Given the description of an element on the screen output the (x, y) to click on. 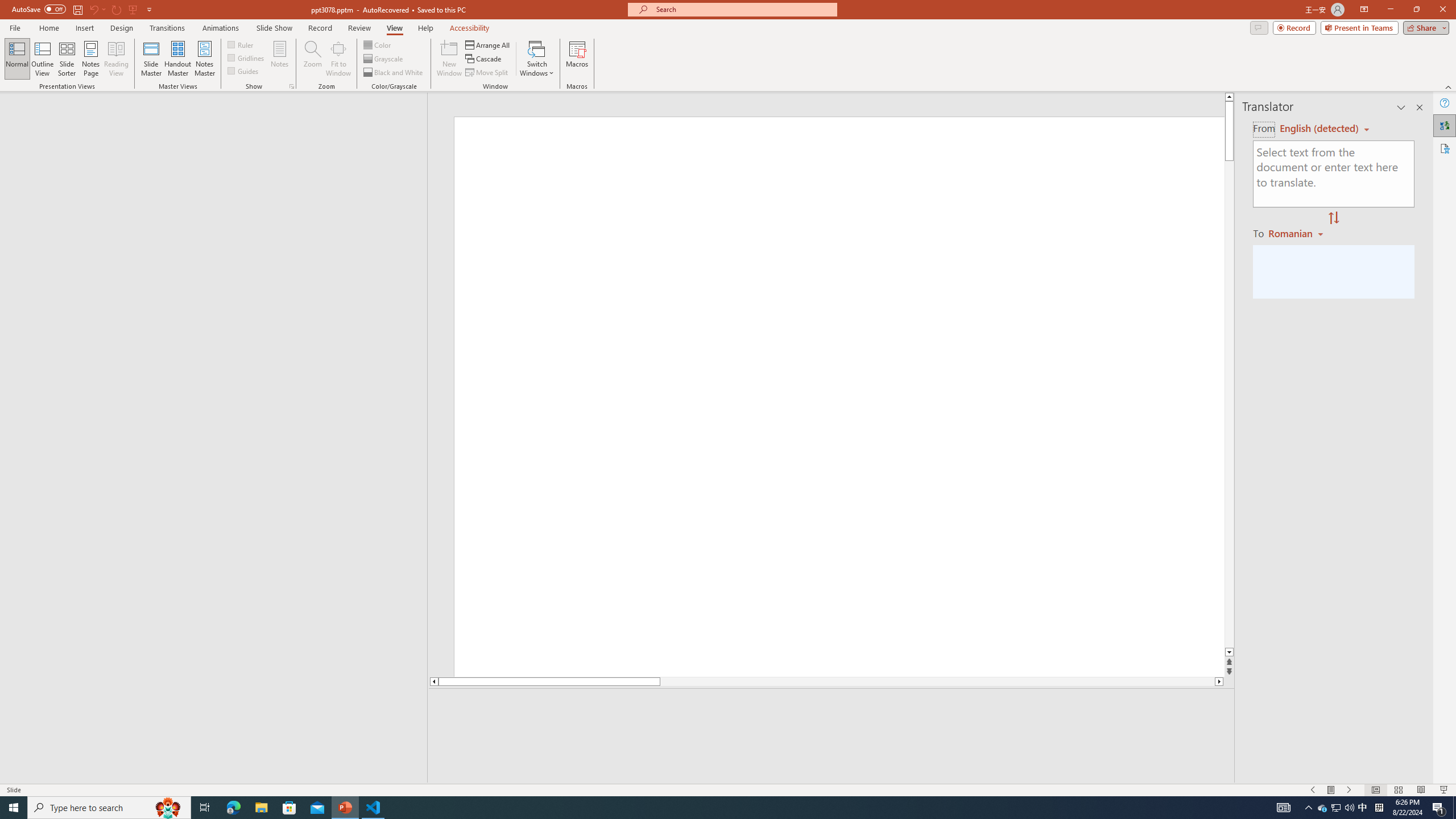
Notes Page (90, 58)
Handout Master (177, 58)
Outline (218, 114)
Fit to Window (338, 58)
Slide Show Next On (1349, 790)
Notes (279, 58)
Black and White (393, 72)
Grayscale (383, 58)
Slide Master (151, 58)
Arrange All (488, 44)
Swap "from" and "to" languages. (1333, 218)
